Given the description of an element on the screen output the (x, y) to click on. 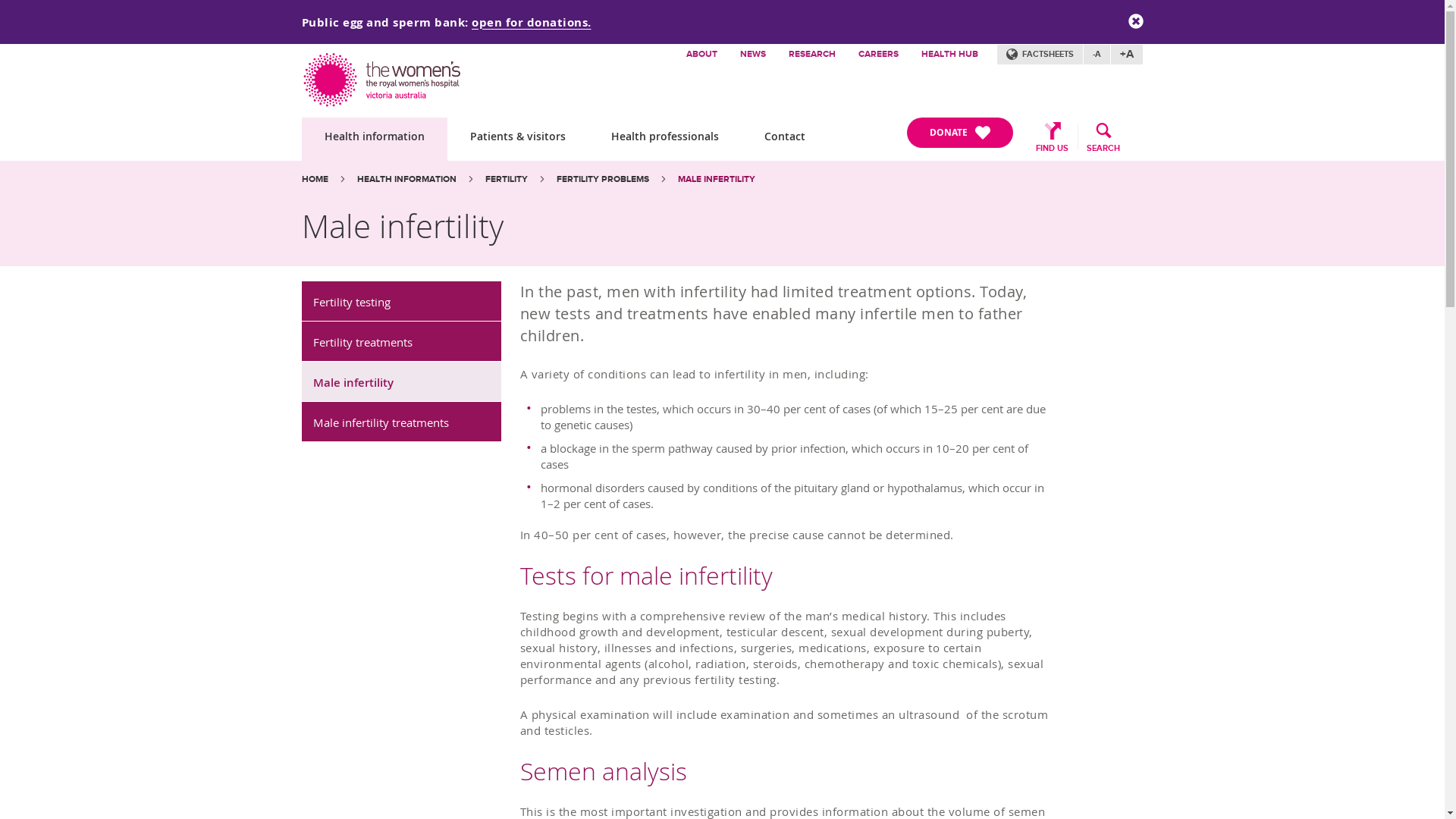
FIND US Element type: text (1045, 133)
CAREERS Element type: text (877, 54)
ABOUT Element type: text (701, 54)
DONATE Element type: text (959, 132)
Health information Element type: text (374, 138)
Male infertility treatments Element type: text (401, 421)
HEALTH INFORMATION Element type: text (405, 179)
FERTILITY PROBLEMS Element type: text (602, 179)
Contact Element type: text (784, 138)
MALE INFERTILITY Element type: text (716, 179)
+A Element type: text (1126, 54)
HEALTH HUB Element type: text (949, 54)
Male infertility Element type: text (401, 381)
HOME Element type: text (314, 179)
FERTILITY Element type: text (506, 179)
NEWS Element type: text (752, 54)
Fertility treatments Element type: text (401, 341)
RESEARCH Element type: text (811, 54)
FACTSHEETS Element type: text (1039, 54)
the Royal Womens Hospital Element type: hover (382, 75)
-A Element type: text (1096, 54)
Fertility testing Element type: text (401, 301)
Health professionals Element type: text (664, 138)
Patients & visitors Element type: text (517, 138)
SEARCH Element type: text (1109, 133)
open for donations. Element type: text (531, 21)
